Given the description of an element on the screen output the (x, y) to click on. 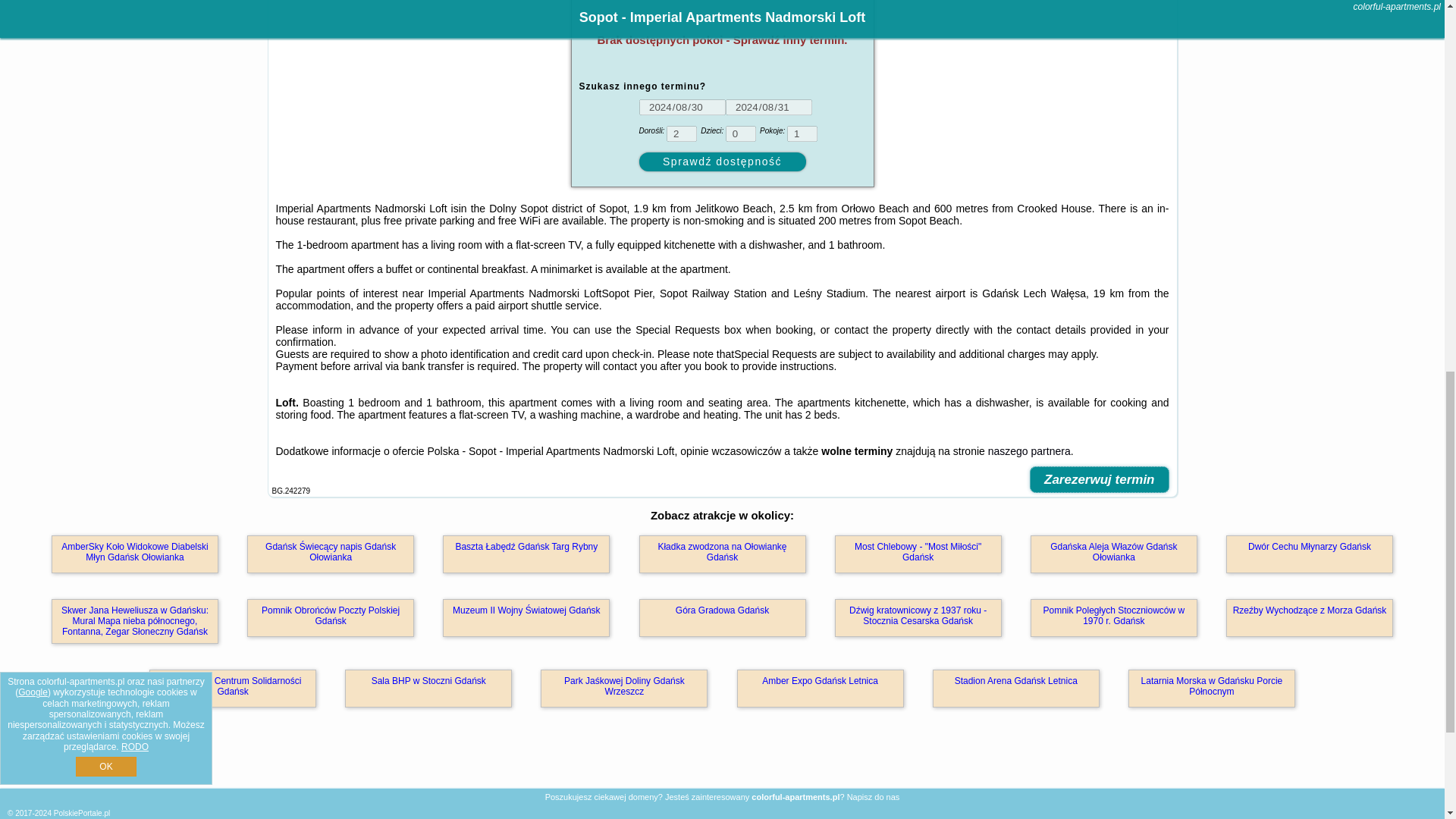
Zarezerwuj termin (1099, 479)
0 (740, 133)
1 (801, 133)
naszego partnera (1029, 451)
2 (681, 133)
2024-08-30 (682, 107)
2024-08-31 (767, 107)
